Given the description of an element on the screen output the (x, y) to click on. 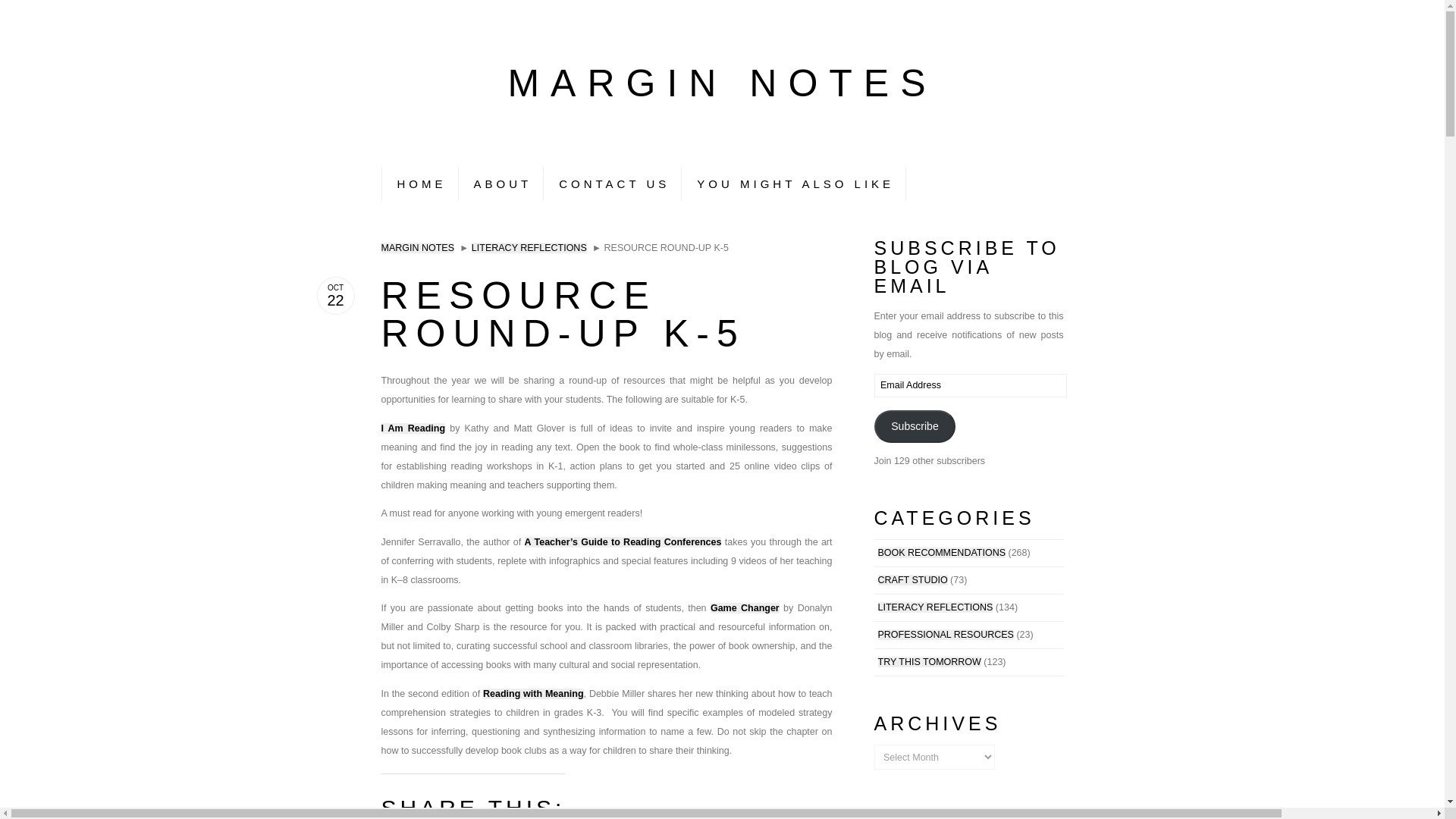
BOOK RECOMMENDATIONS (941, 552)
ABOUT (500, 183)
TRY THIS TOMORROW (929, 661)
PROFESSIONAL RESOURCES (945, 634)
YOU MIGHT ALSO LIKE (793, 183)
Subscribe (914, 426)
CRAFT STUDIO (912, 579)
Reading with Meaning (533, 693)
LITERACY REFLECTIONS (934, 606)
CONTACT US (612, 183)
